Given the description of an element on the screen output the (x, y) to click on. 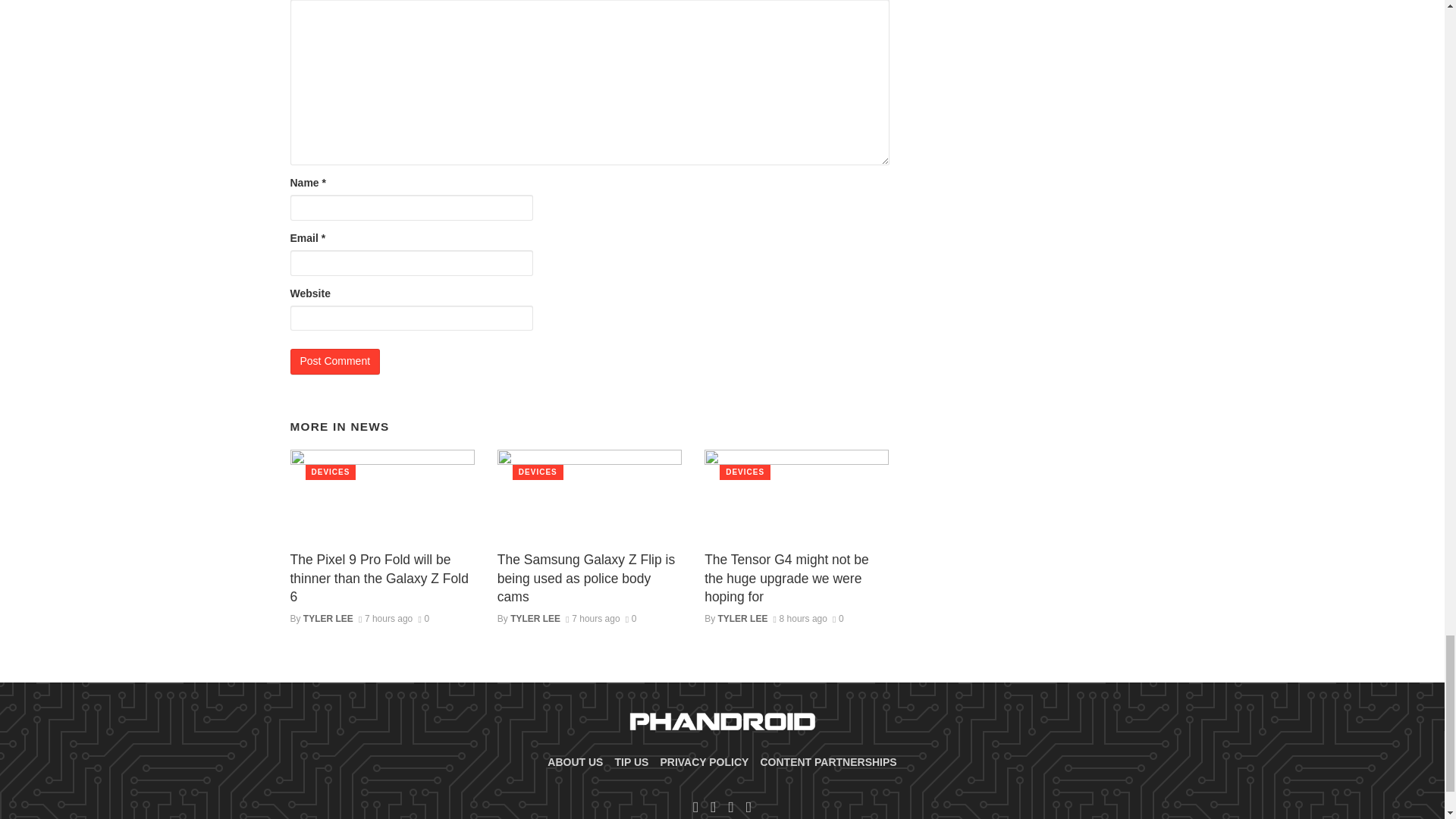
Post Comment (334, 361)
